Given the description of an element on the screen output the (x, y) to click on. 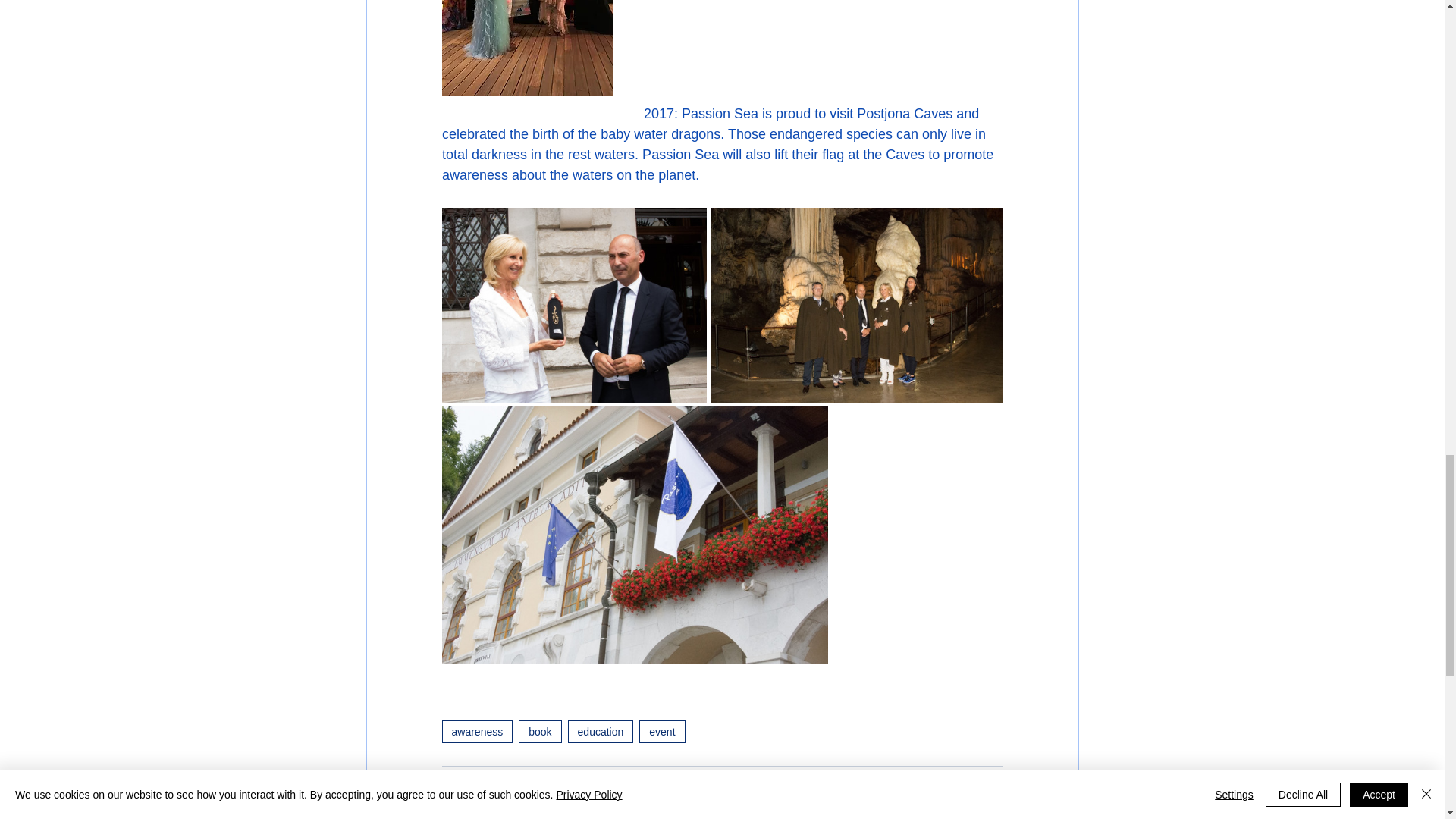
book (539, 731)
event (661, 731)
education (600, 731)
awareness (476, 731)
